Given the description of an element on the screen output the (x, y) to click on. 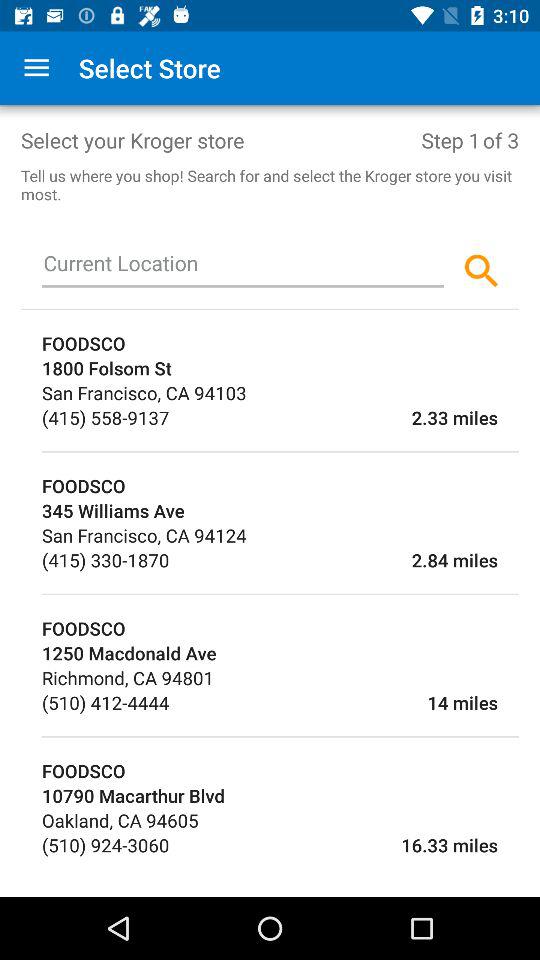
press icon below (510) 412-4444 item (280, 736)
